Given the description of an element on the screen output the (x, y) to click on. 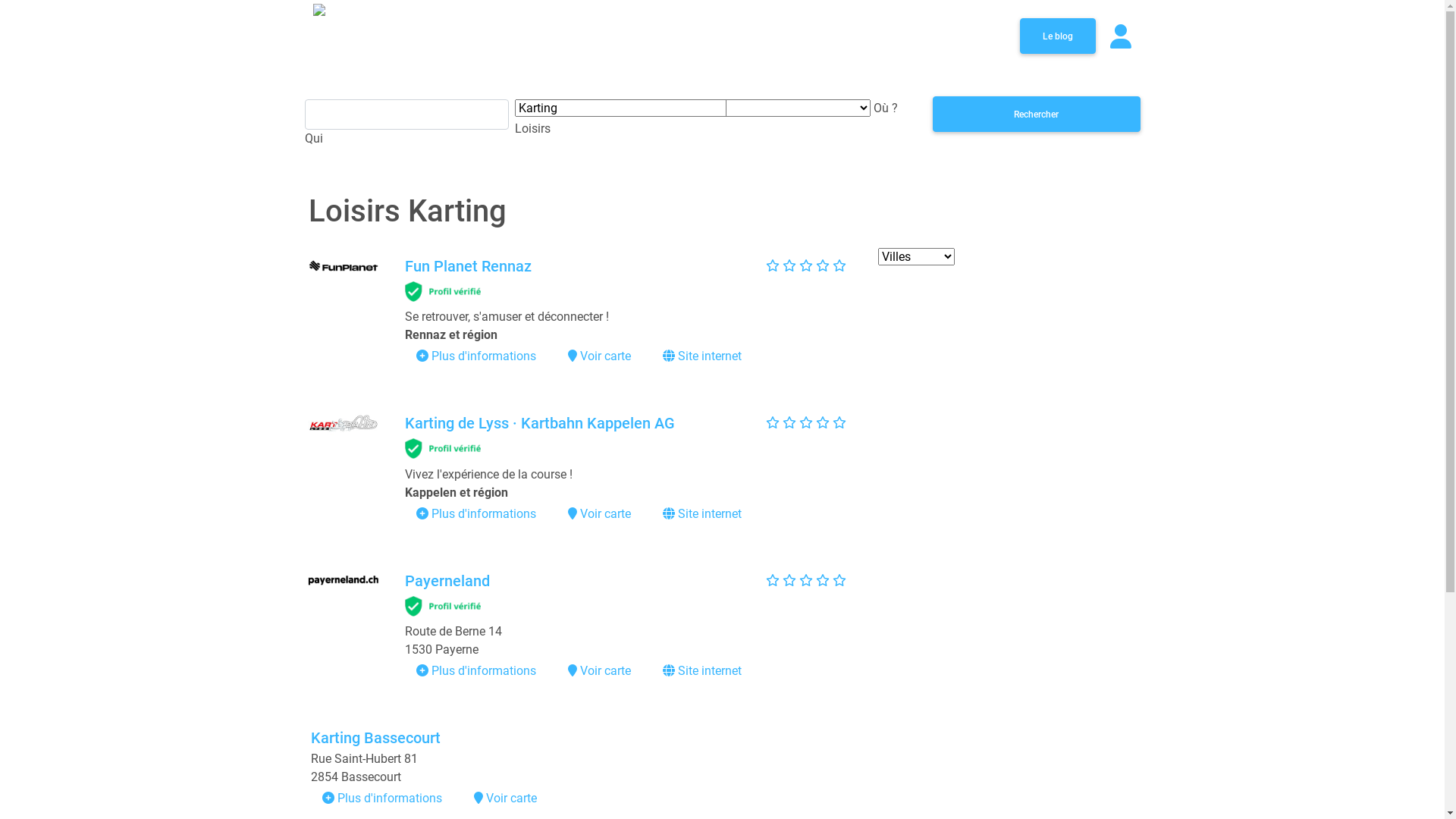
 Voir carte Element type: text (504, 797)
 Plus d'informations Element type: text (475, 513)
 Site internet Element type: text (701, 513)
Fun Planet Rennaz Element type: text (467, 266)
 Voir carte Element type: text (598, 355)
 Plus d'informations Element type: text (381, 797)
 Plus d'informations Element type: text (475, 355)
Payerneland Element type: text (446, 580)
Le blog Element type: text (1057, 35)
 Plus d'informations Element type: text (475, 670)
Rechercher Element type: text (1036, 113)
 Voir carte Element type: text (598, 670)
 Voir carte Element type: text (598, 513)
 Site internet Element type: text (701, 670)
 Site internet Element type: text (701, 355)
Karting Bassecourt Element type: text (375, 737)
